Given the description of an element on the screen output the (x, y) to click on. 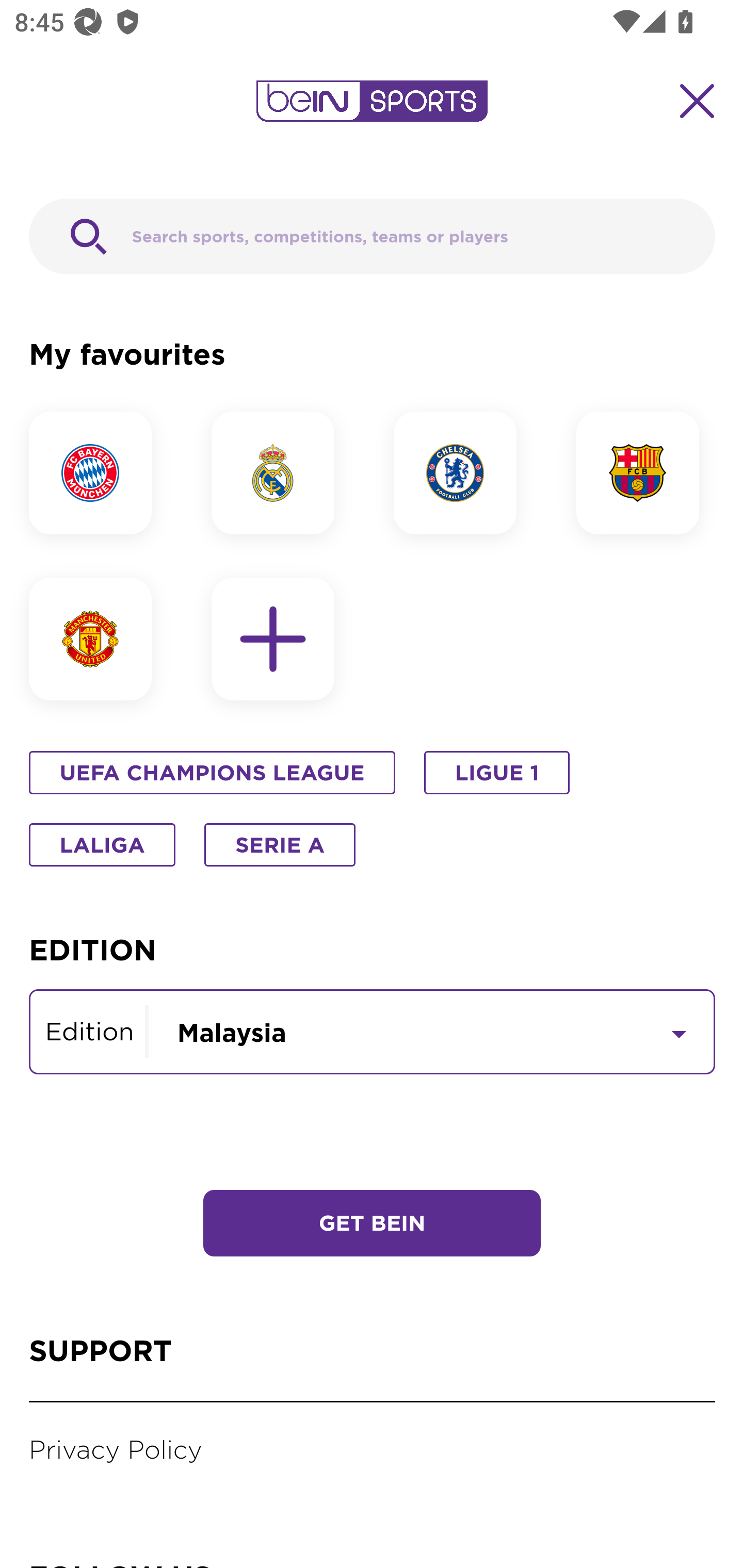
en-my?platform=mobile_android bein logo (371, 101)
Close Menu Icon (697, 101)
